Given the description of an element on the screen output the (x, y) to click on. 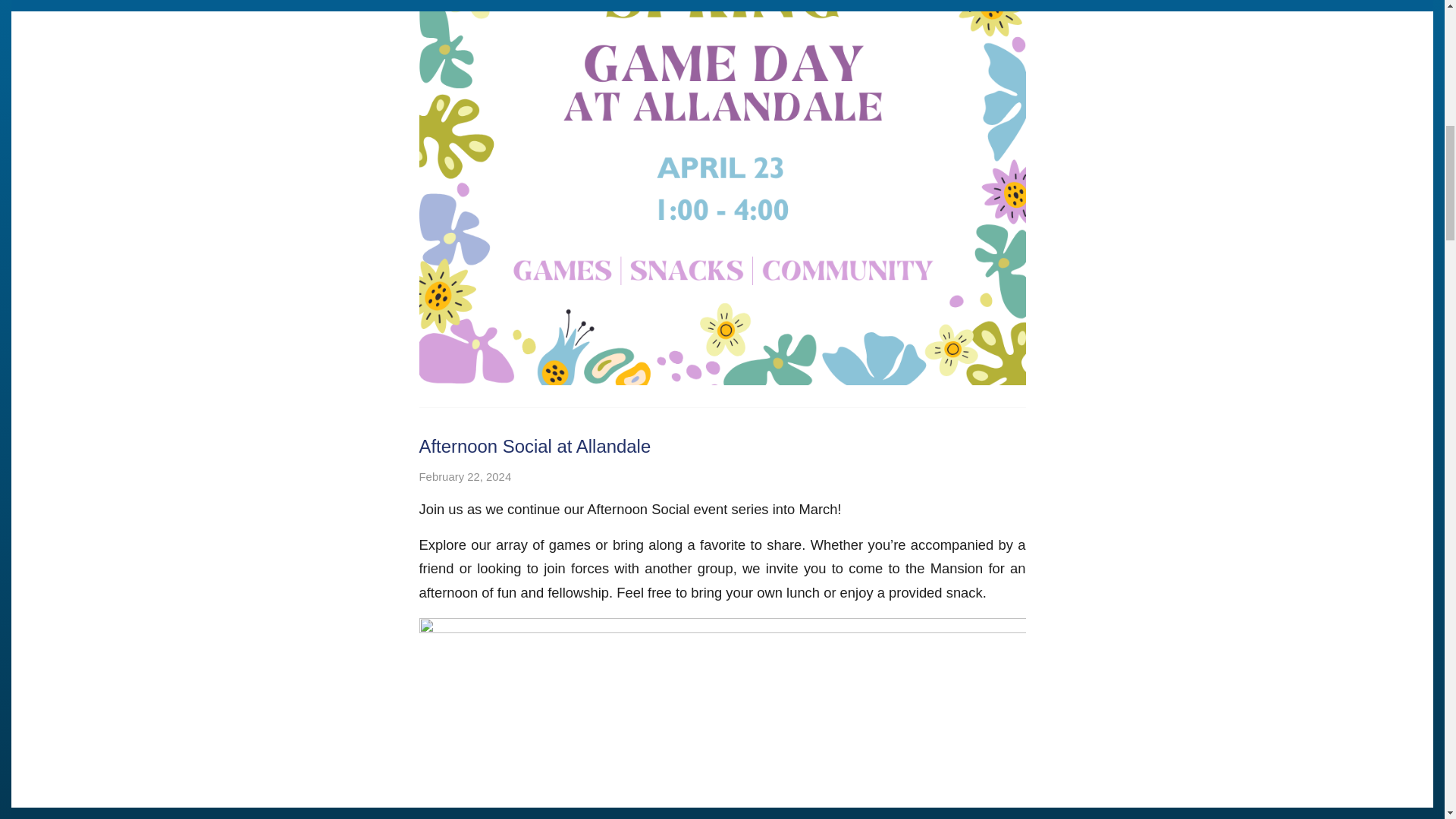
Afternoon Social at Allandale (534, 445)
Permanent Link: Afternoon Social at Allandale (534, 445)
